Given the description of an element on the screen output the (x, y) to click on. 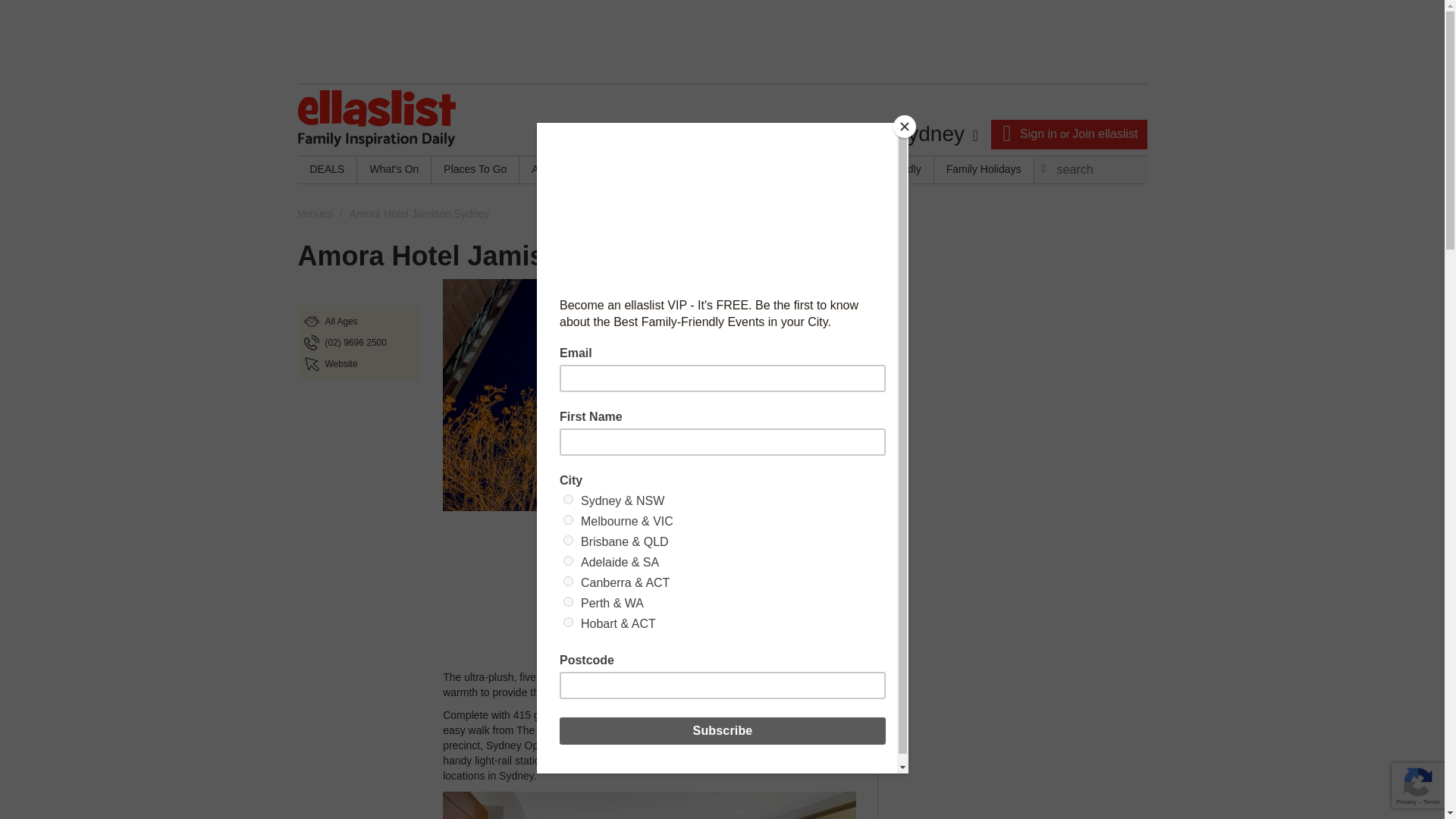
Kids Classes (642, 169)
Best Reads (788, 169)
Sign in (1038, 133)
Around You (558, 169)
Sydney (935, 133)
Places To Go (474, 169)
Amora Hotel Jamison Sydney (628, 676)
3rd party ad content (721, 41)
3rd party ad content (650, 574)
Schools (716, 169)
Sensory-Friendly (880, 169)
Website (340, 363)
What's On (393, 169)
DEALS (326, 169)
3rd party ad content (1012, 468)
